Given the description of an element on the screen output the (x, y) to click on. 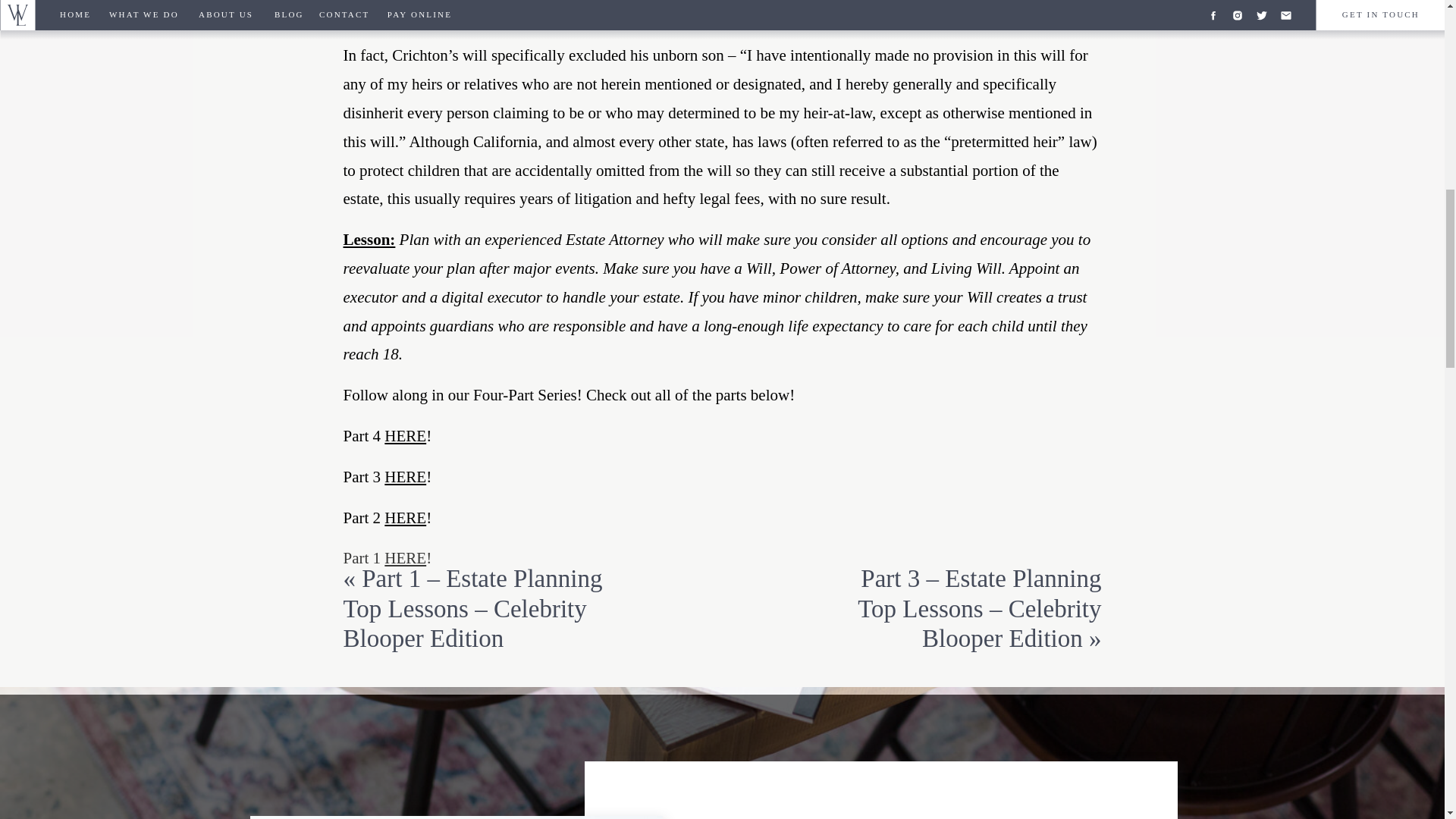
HERE (405, 557)
HERE (405, 516)
HERE (405, 476)
HERE (405, 435)
